Given the description of an element on the screen output the (x, y) to click on. 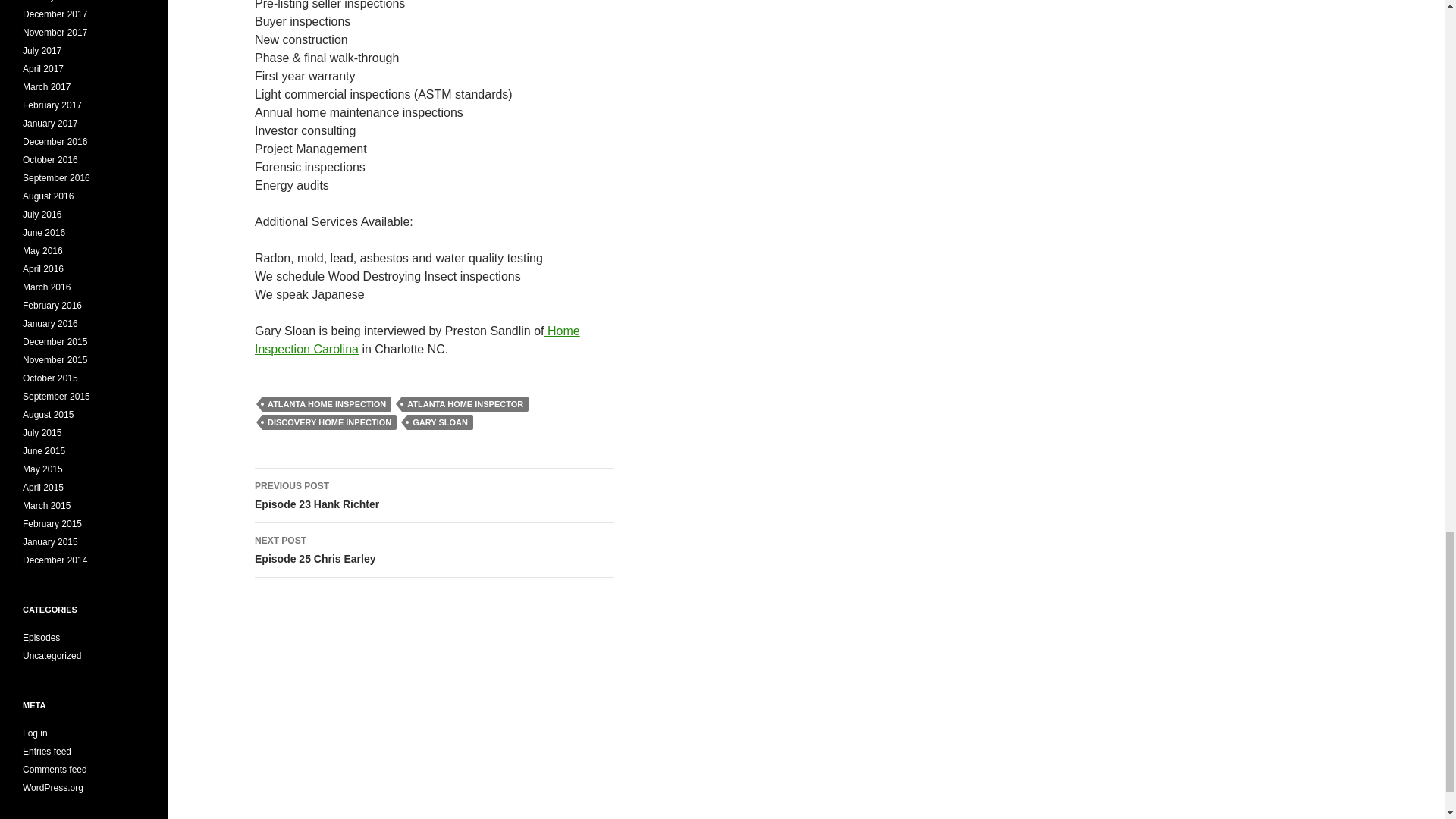
ATLANTA HOME INSPECTOR (464, 403)
DISCOVERY HOME INPECTION (434, 495)
GARY SLOAN (329, 421)
Home Inspection Carolina (434, 550)
ATLANTA HOME INSPECTION (440, 421)
